Given the description of an element on the screen output the (x, y) to click on. 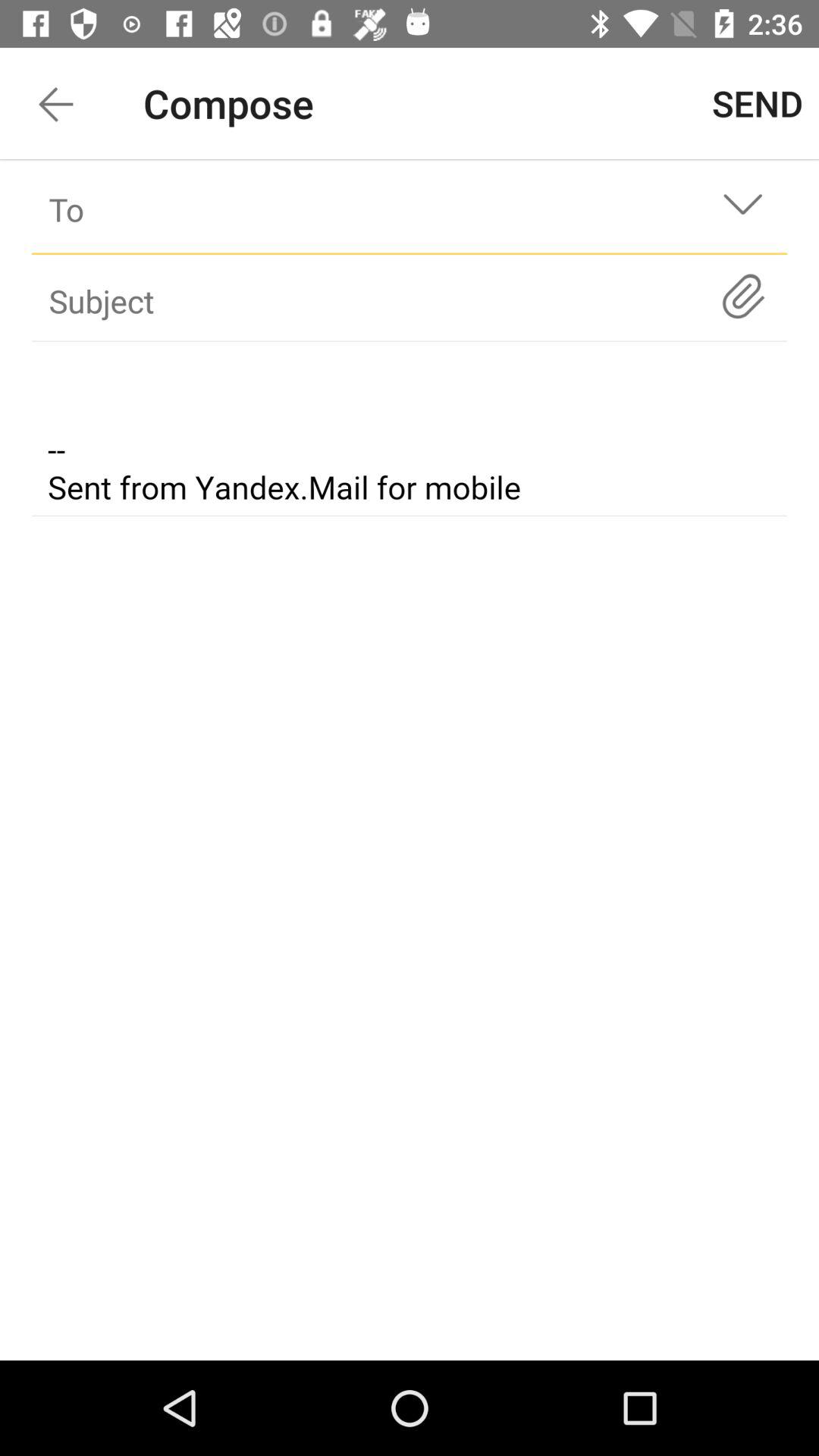
drop down for contacts list (743, 209)
